Given the description of an element on the screen output the (x, y) to click on. 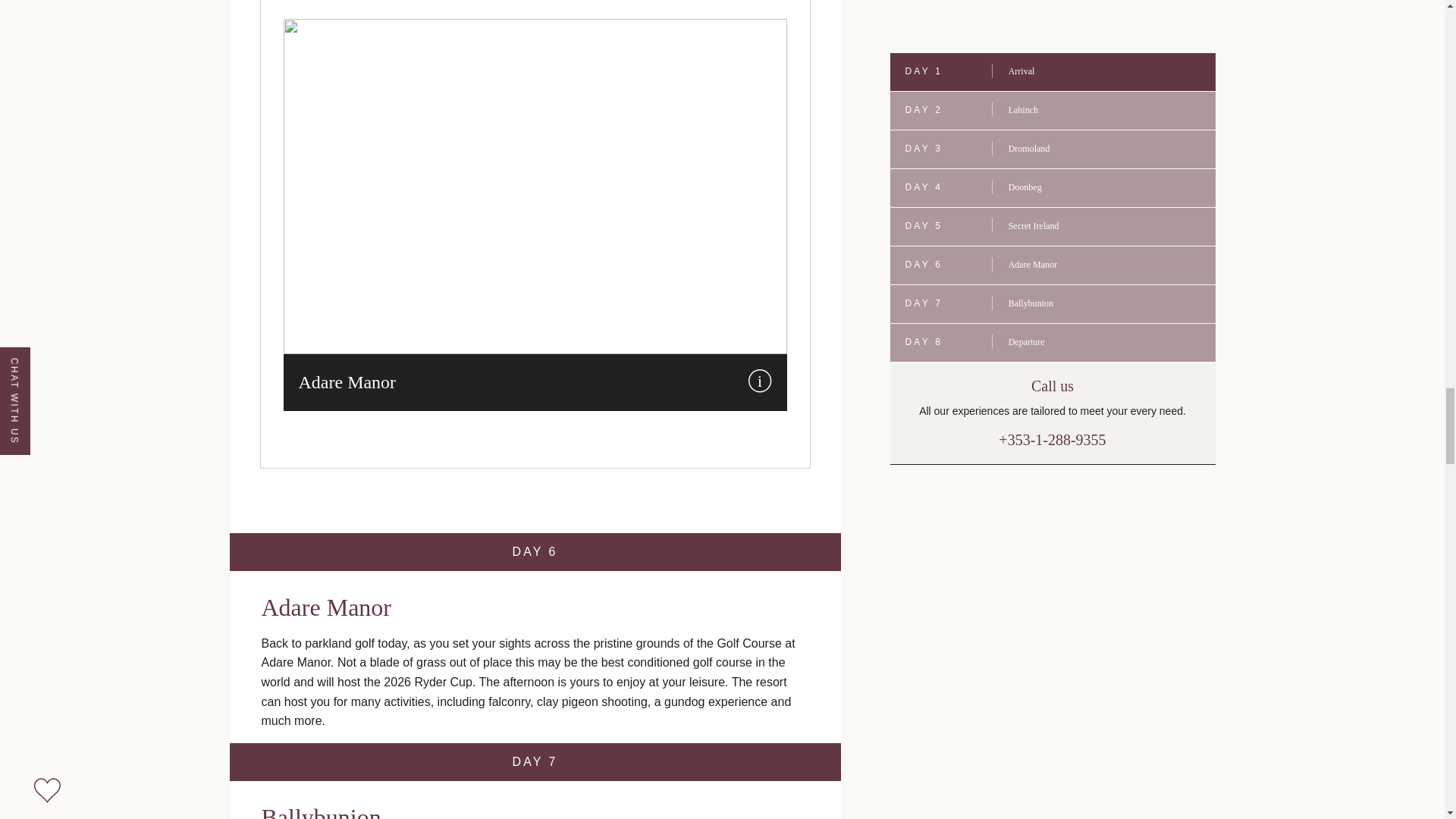
i (759, 380)
